Given the description of an element on the screen output the (x, y) to click on. 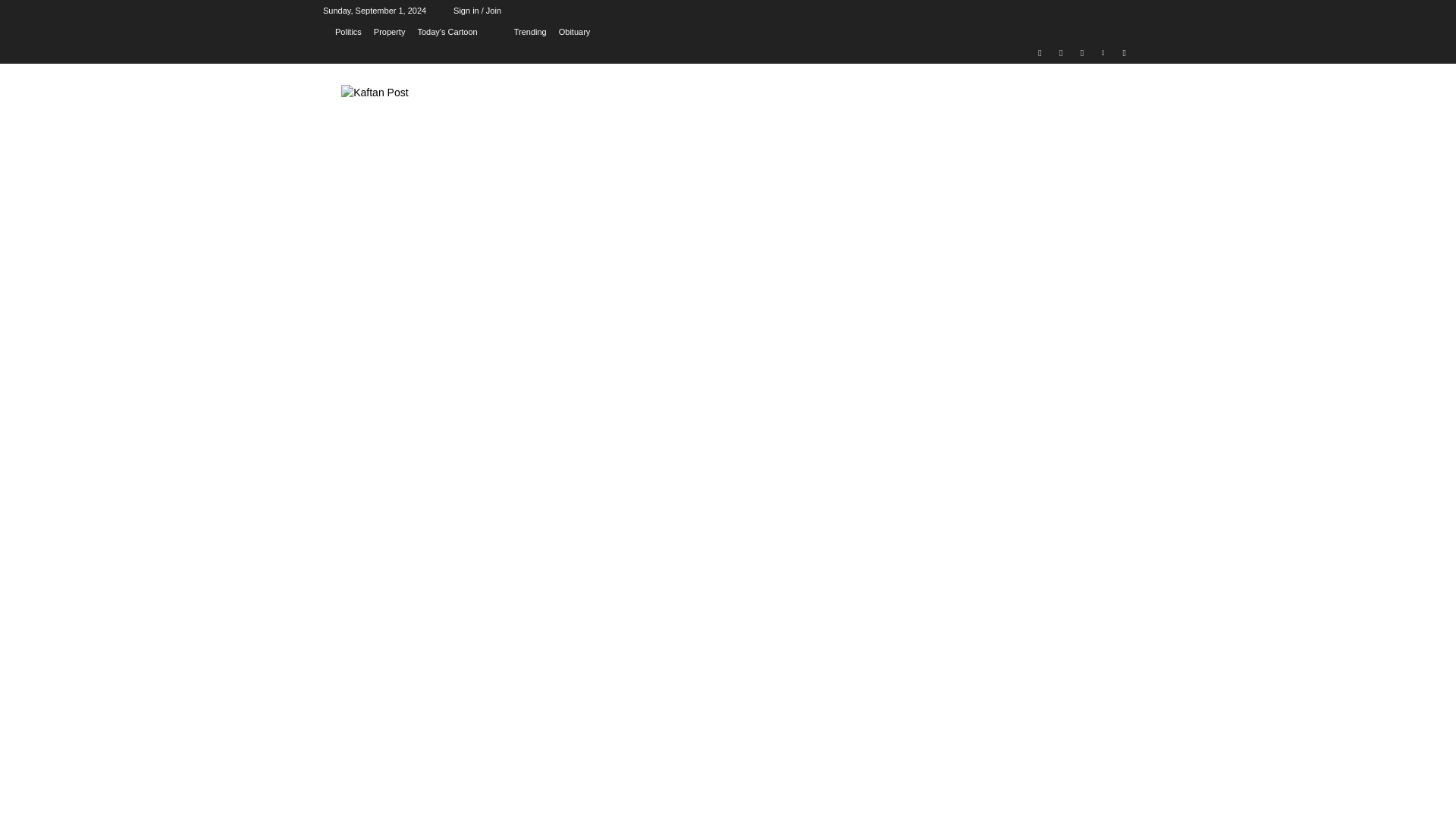
Instagram (1061, 52)
Youtube (1123, 52)
Kaftan Post (443, 119)
Vimeo (1103, 52)
Facebook (1039, 52)
Kaftan Post (444, 119)
Twitter (1082, 52)
